Given the description of an element on the screen output the (x, y) to click on. 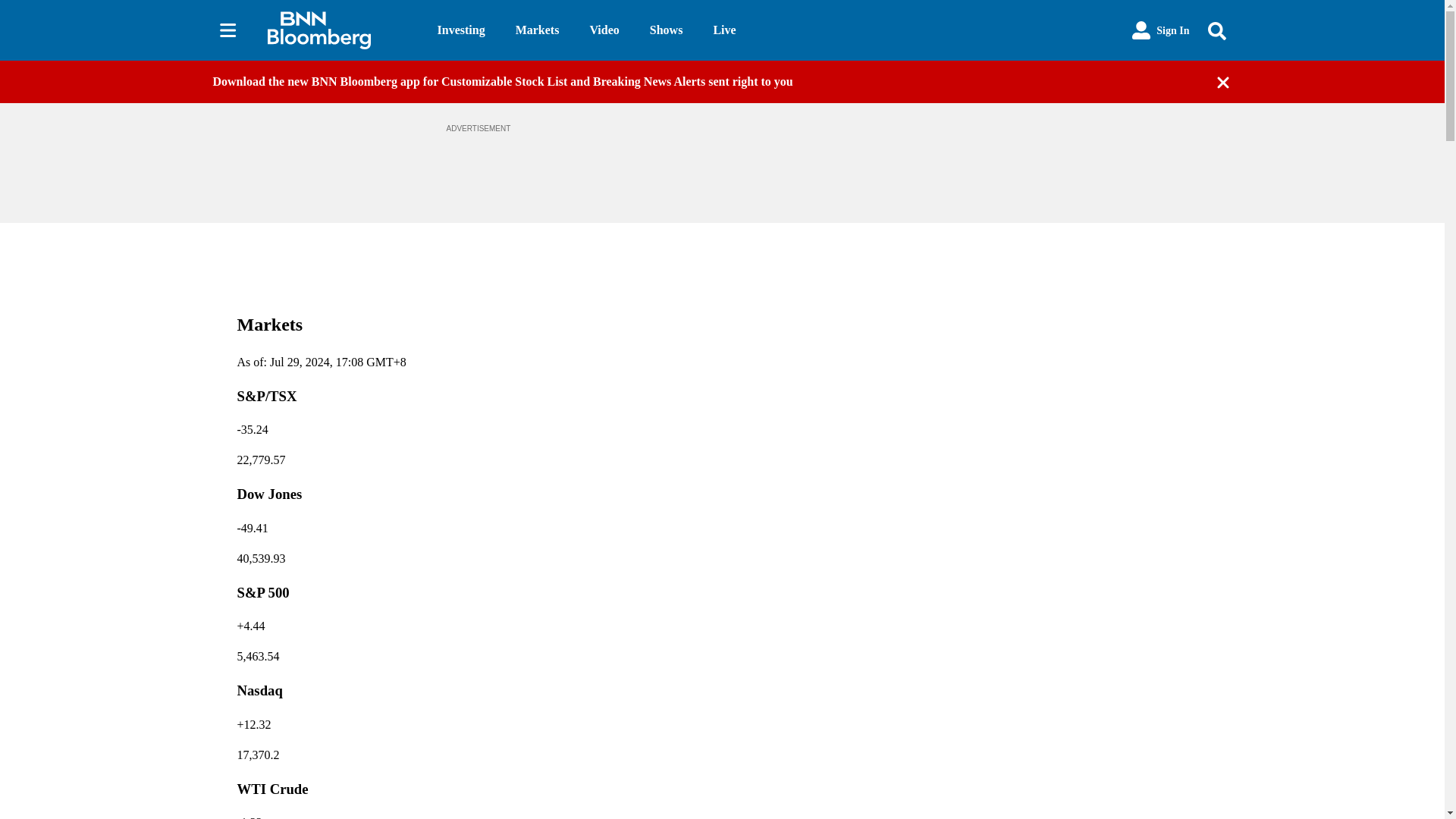
Investing (460, 30)
Shows (665, 30)
Markets (537, 30)
Live (724, 30)
Sections (227, 30)
Video (603, 30)
BNN Bloomberg (339, 30)
Sign In (1160, 30)
